Given the description of an element on the screen output the (x, y) to click on. 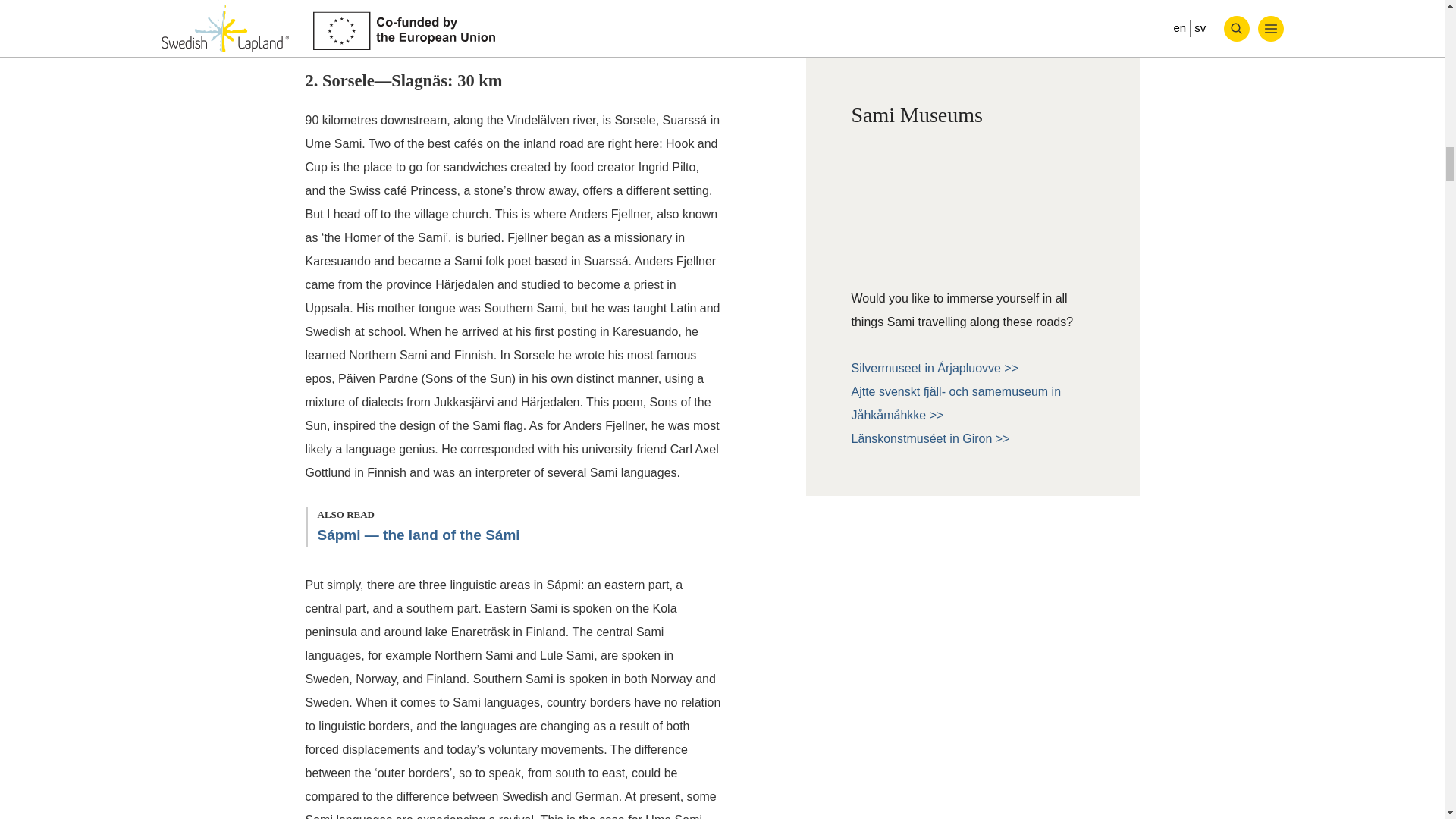
YouTube video player (971, 210)
